Given the description of an element on the screen output the (x, y) to click on. 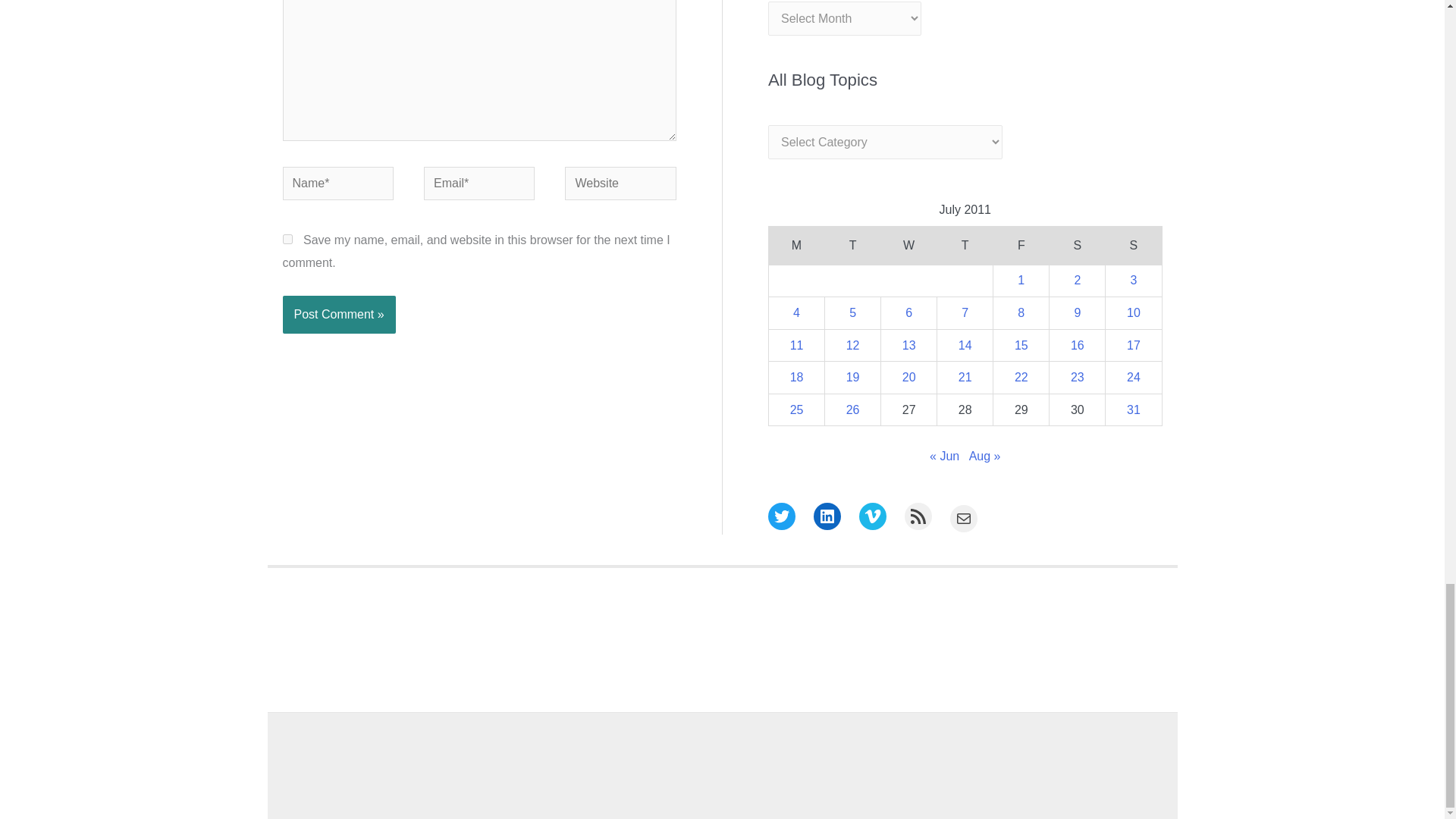
Saturday (1077, 245)
yes (287, 239)
Thursday (964, 245)
Tuesday (852, 245)
Sunday (1133, 245)
Wednesday (908, 245)
Friday (1020, 245)
Monday (796, 245)
